Given the description of an element on the screen output the (x, y) to click on. 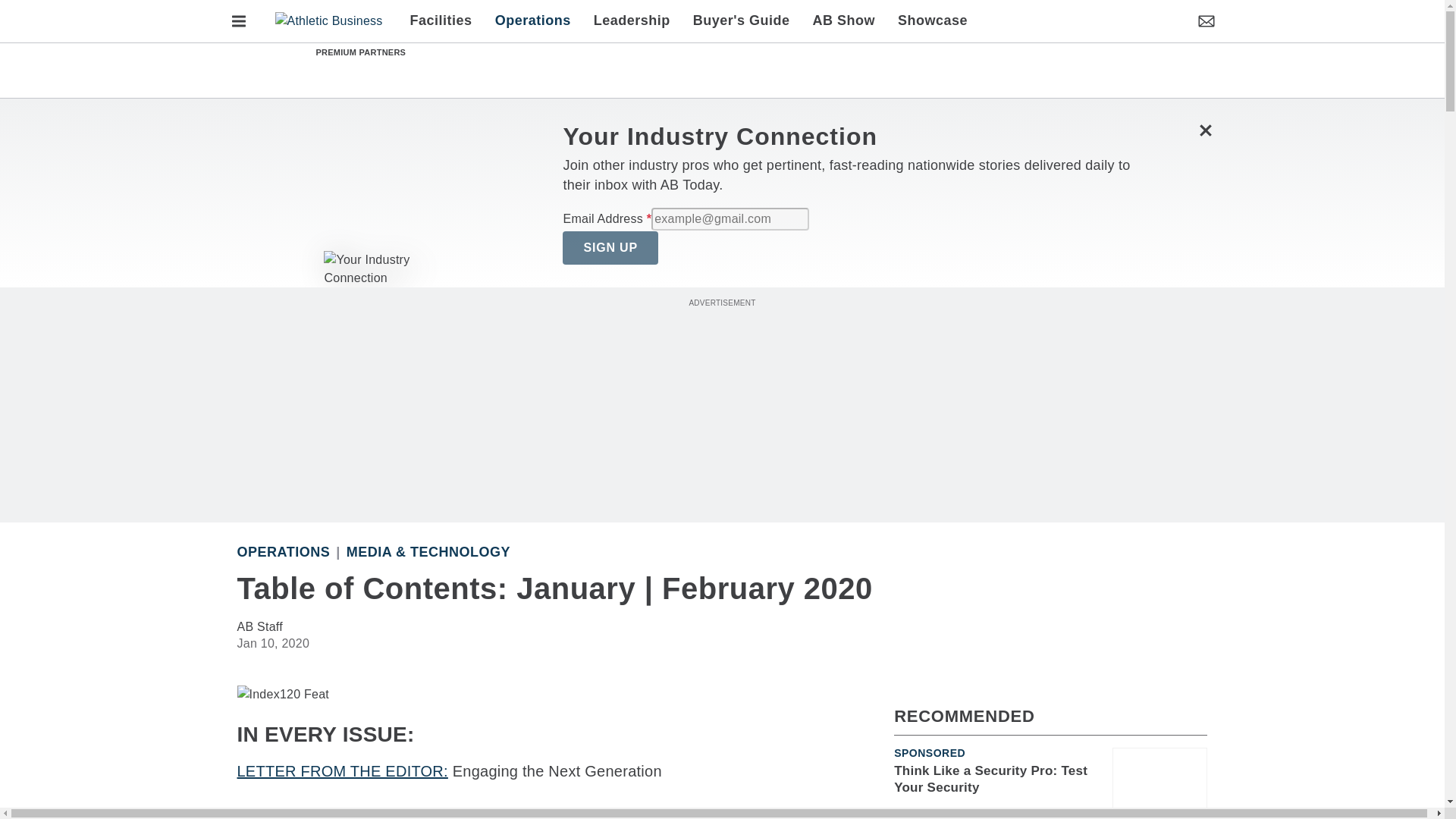
SIGN UP (610, 247)
Facilities (446, 21)
Showcase (927, 21)
Leadership (631, 21)
Buyer's Guide (741, 21)
Operations (532, 21)
AB Show (844, 21)
Operations (282, 551)
